Given the description of an element on the screen output the (x, y) to click on. 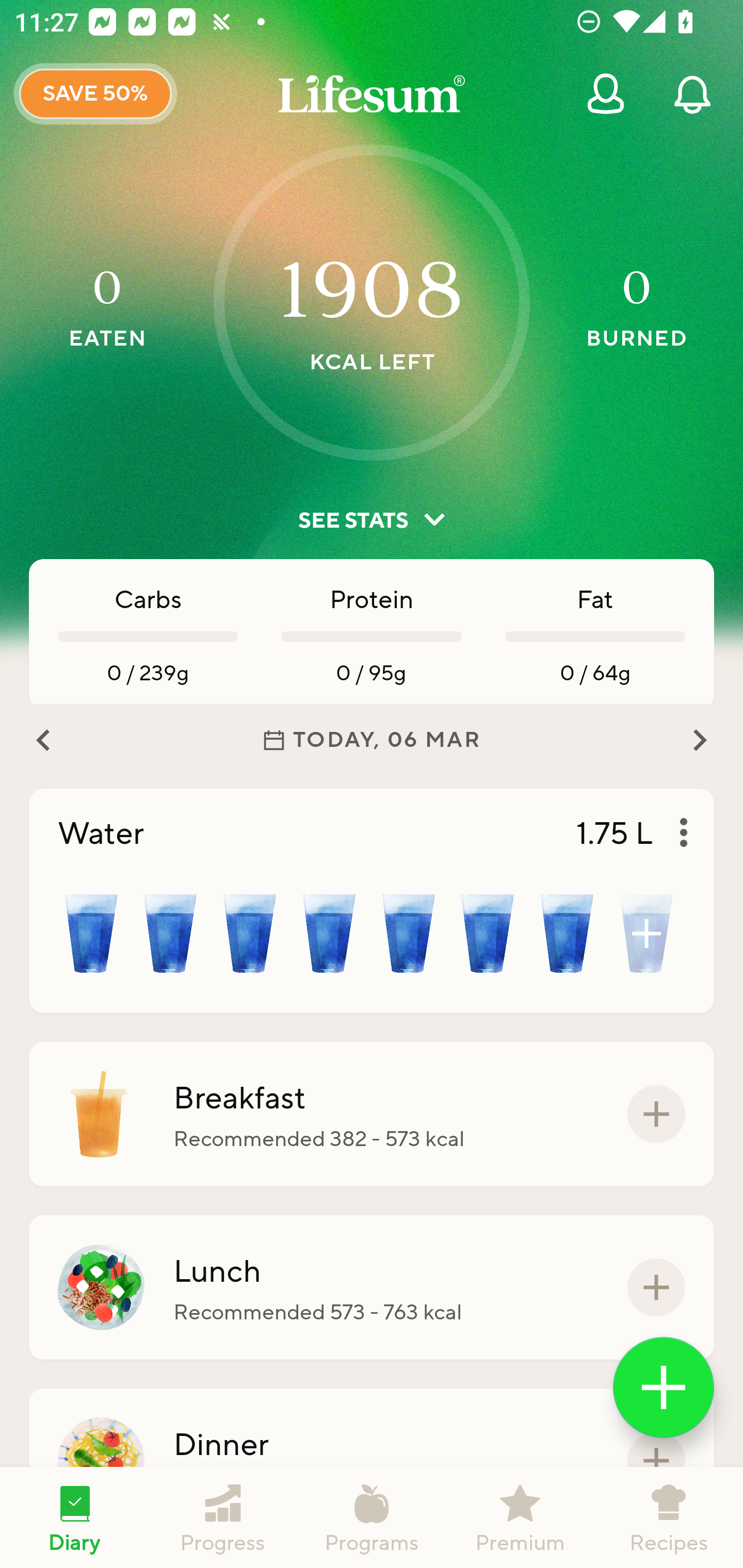
SEE STATS (371, 519)
TODAY, 06 MAR (371, 739)
Breakfast Recommended 382 - 573 kcal (371, 1113)
Lunch Recommended 573 - 763 kcal (371, 1287)
Dinner Recommended 573 - 763 kcal (371, 1461)
Progress (222, 1517)
Programs (371, 1517)
Premium (519, 1517)
Recipes (668, 1517)
